Given the description of an element on the screen output the (x, y) to click on. 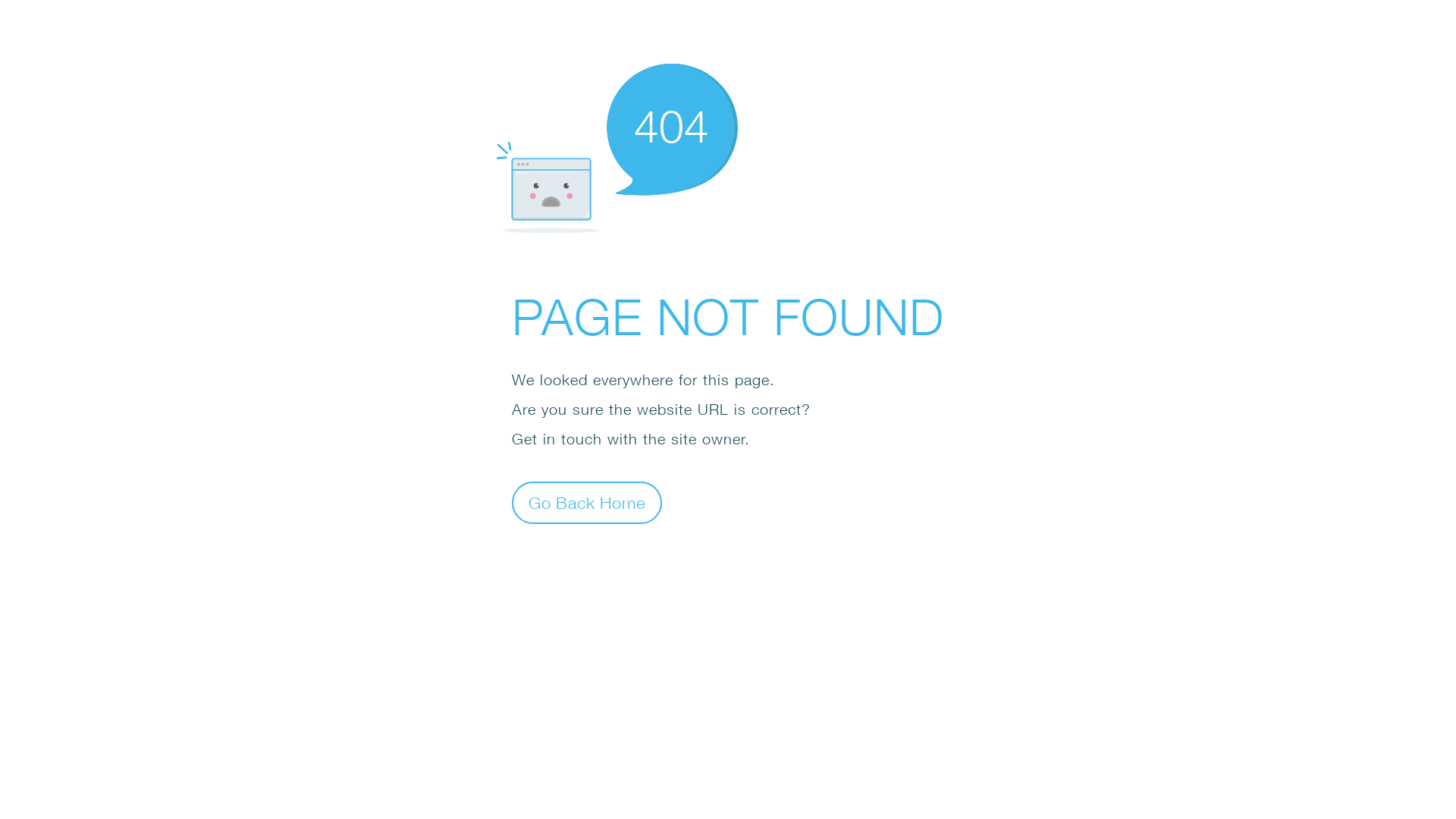
Go Back Home Element type: text (586, 502)
